Given the description of an element on the screen output the (x, y) to click on. 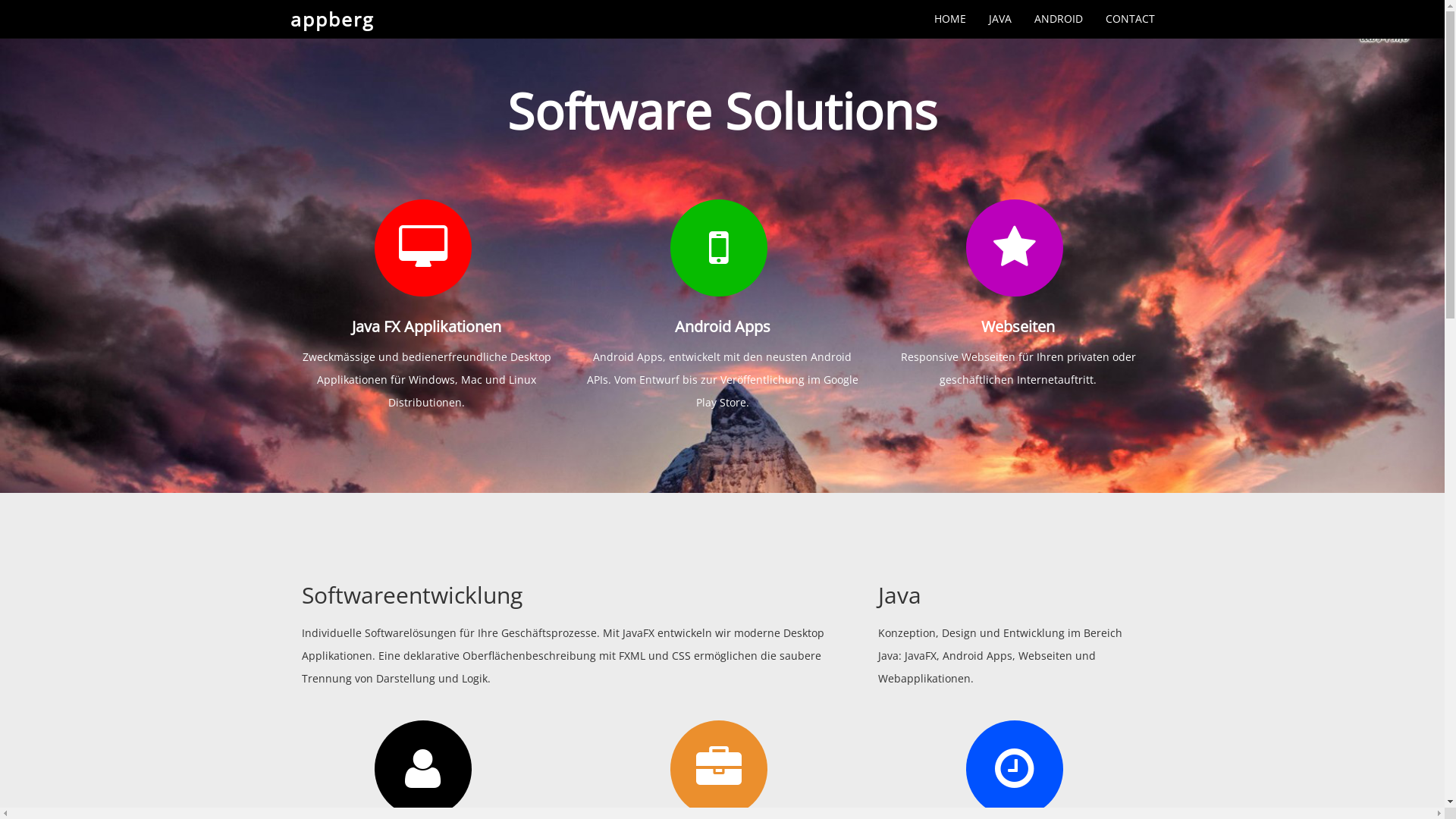
appberg Element type: text (332, 18)
JAVA Element type: text (999, 18)
HOME Element type: text (949, 18)
CONTACT Element type: text (1129, 18)
ANDROID Element type: text (1057, 18)
